Given the description of an element on the screen output the (x, y) to click on. 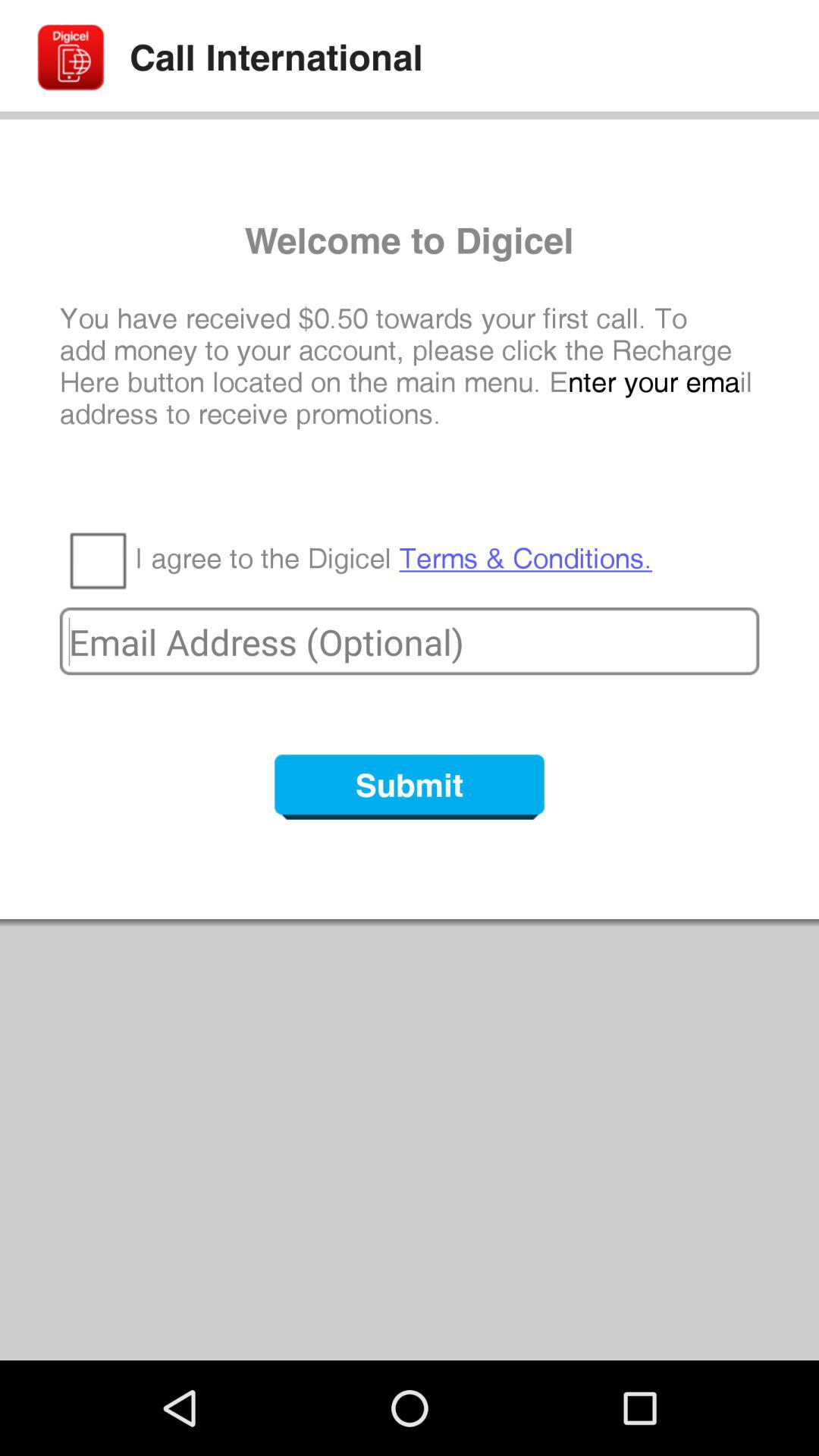
agree option (97, 559)
